Given the description of an element on the screen output the (x, y) to click on. 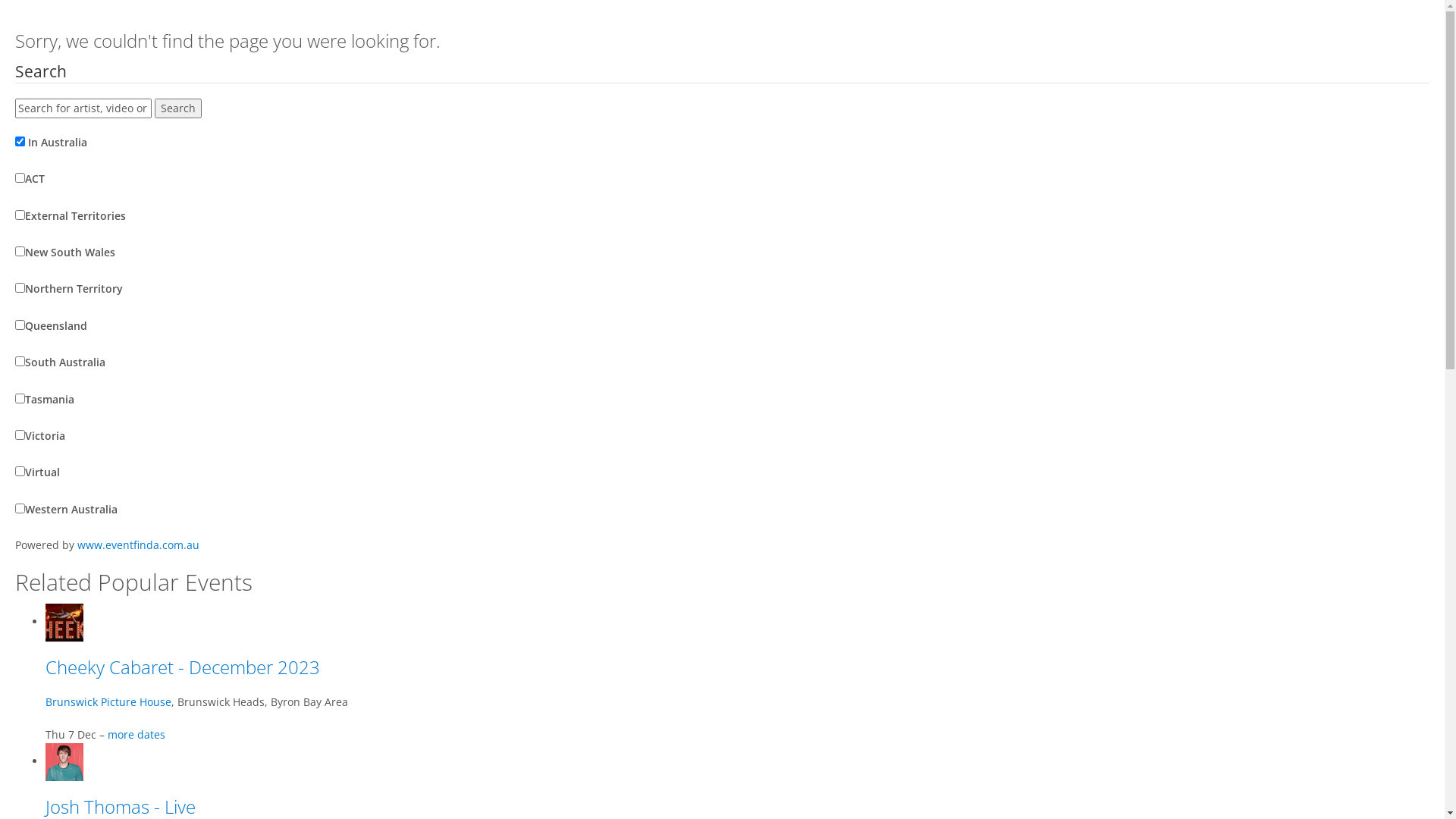
Brunswick Picture House Element type: text (108, 701)
Cheeky Cabaret - December 2023 Element type: text (182, 666)
more dates Element type: text (136, 734)
Search Element type: text (177, 108)
www.eventfinda.com.au Element type: text (138, 544)
